Given the description of an element on the screen output the (x, y) to click on. 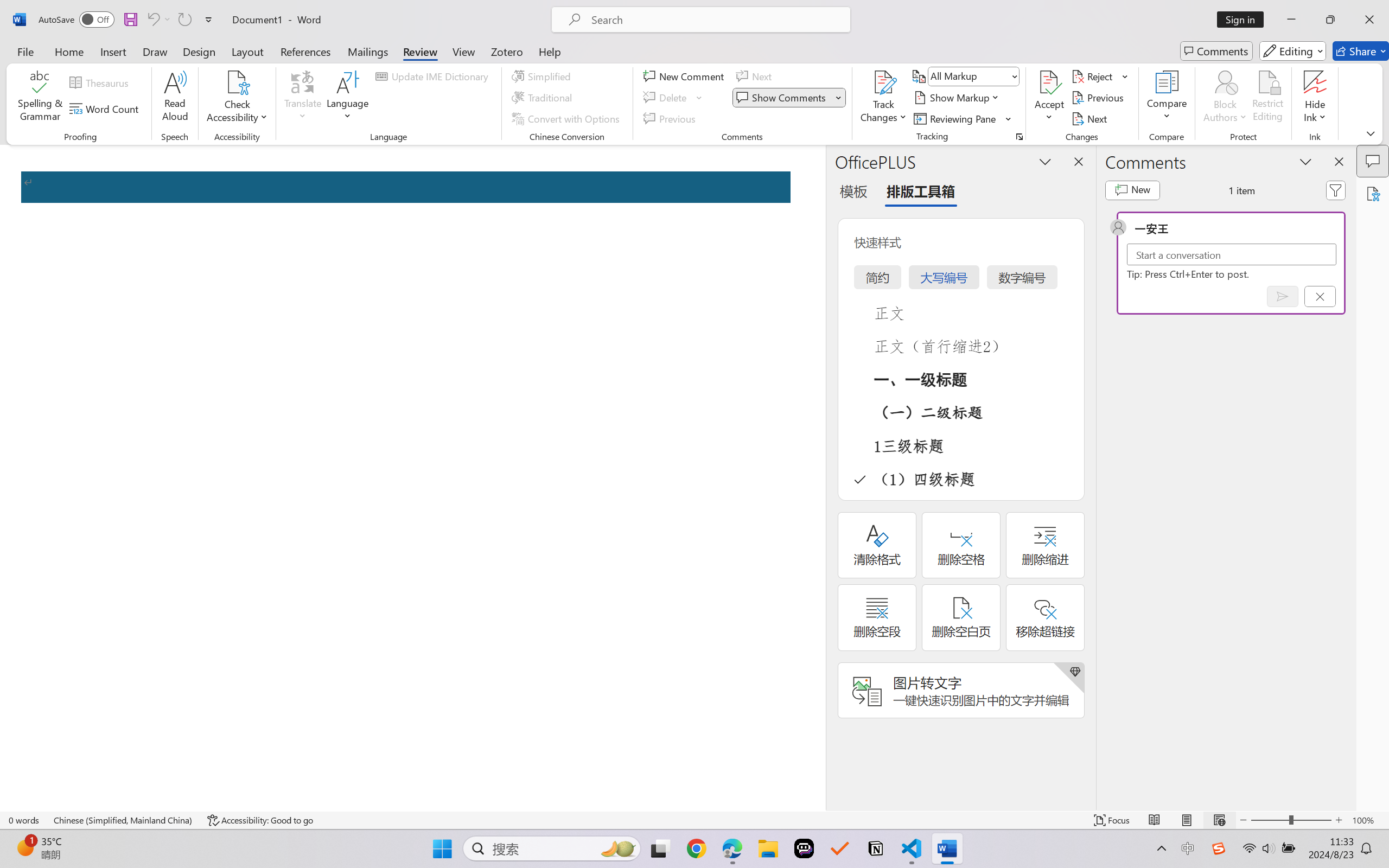
Language (347, 97)
Show Markup (957, 97)
Traditional (543, 97)
New comment (1132, 190)
Read Aloud (174, 97)
Restrict Editing (1267, 97)
